Given the description of an element on the screen output the (x, y) to click on. 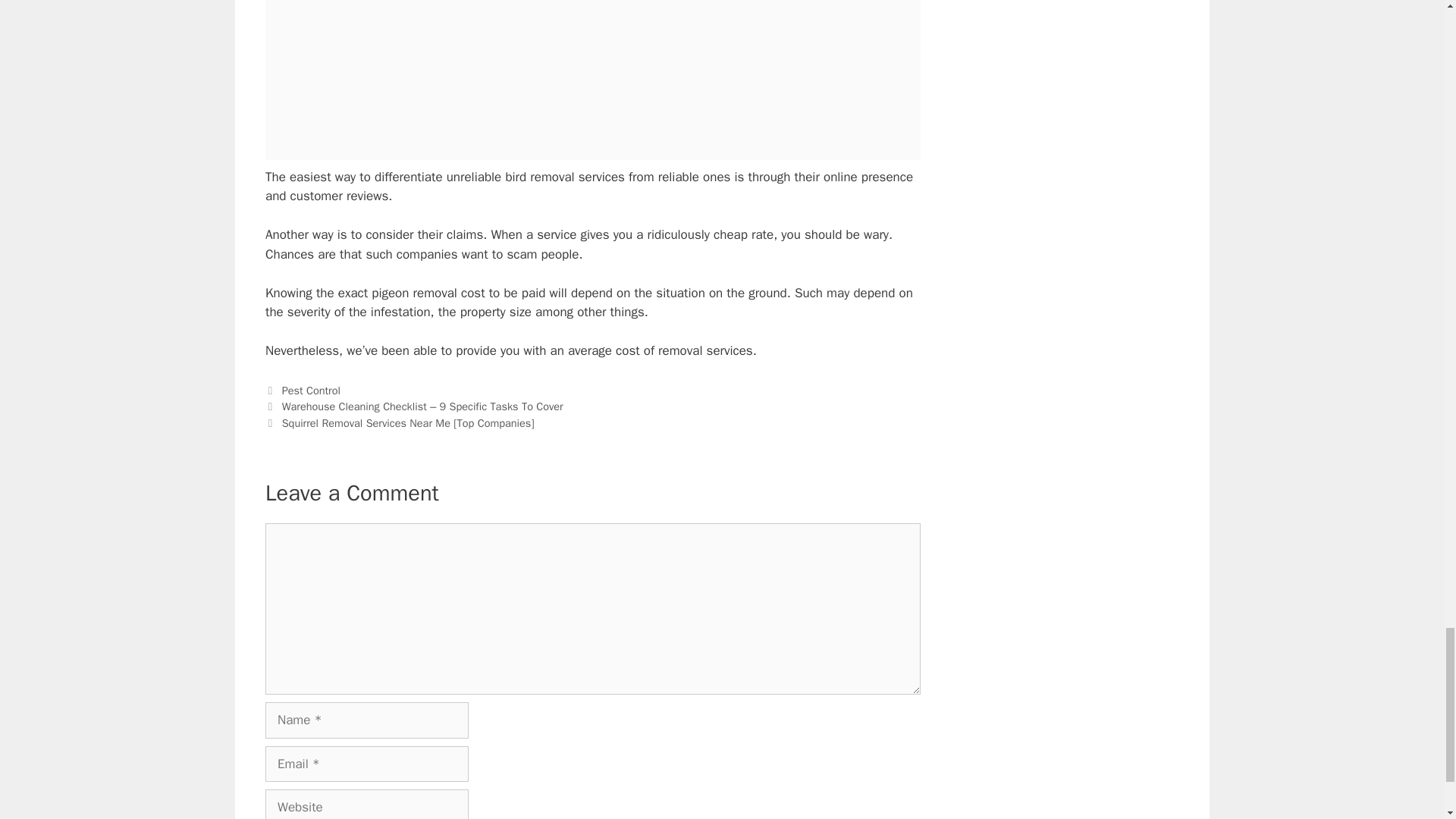
Pest Control (311, 390)
